Given the description of an element on the screen output the (x, y) to click on. 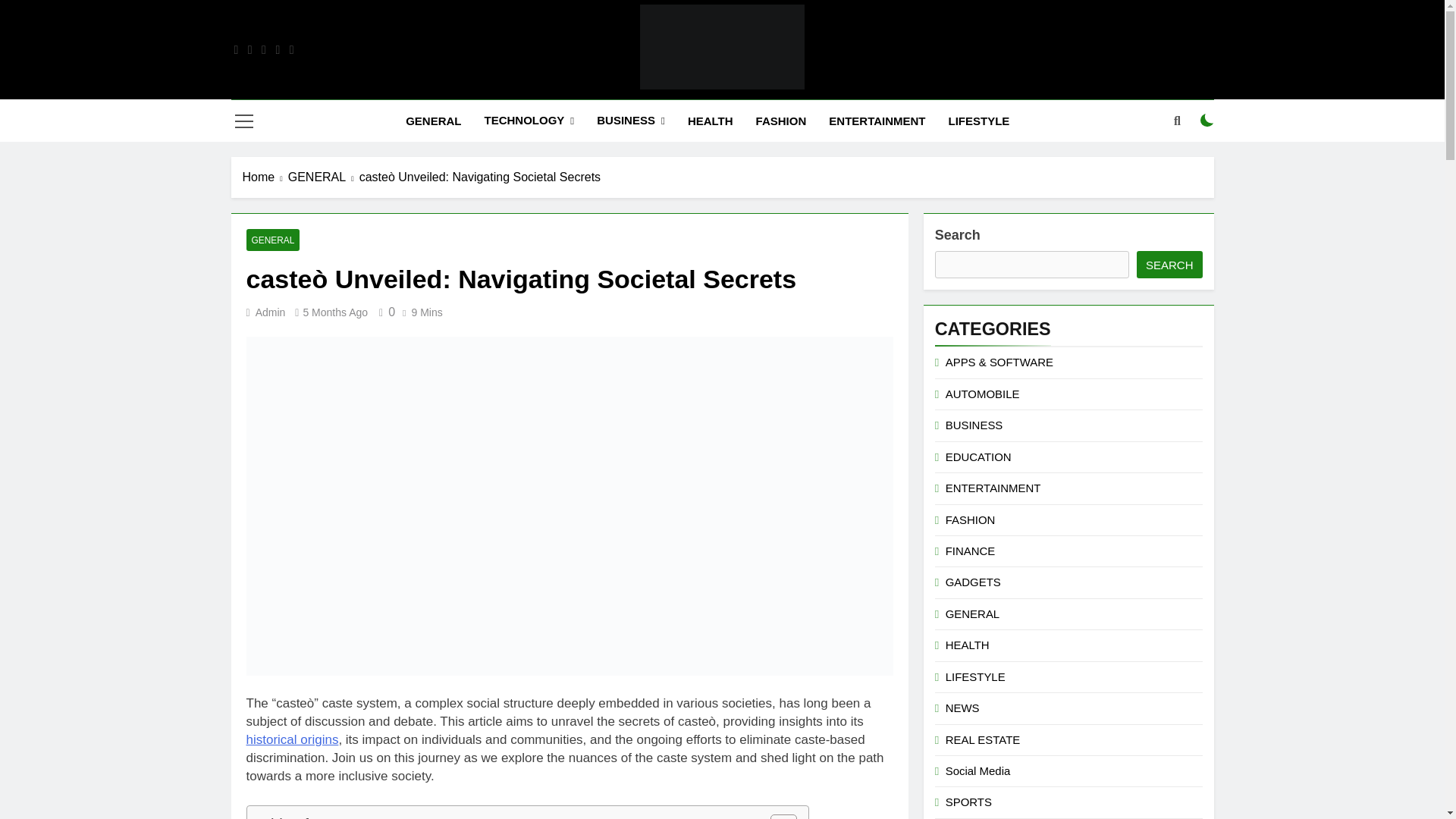
GENERAL (272, 239)
GENERAL (432, 120)
TECHNOLOGY (528, 120)
HEALTH (710, 120)
0 (384, 311)
ENTERTAINMENT (876, 120)
BUSINESS (631, 120)
Actorwish (555, 111)
on (1206, 120)
historical origins (291, 739)
